Given the description of an element on the screen output the (x, y) to click on. 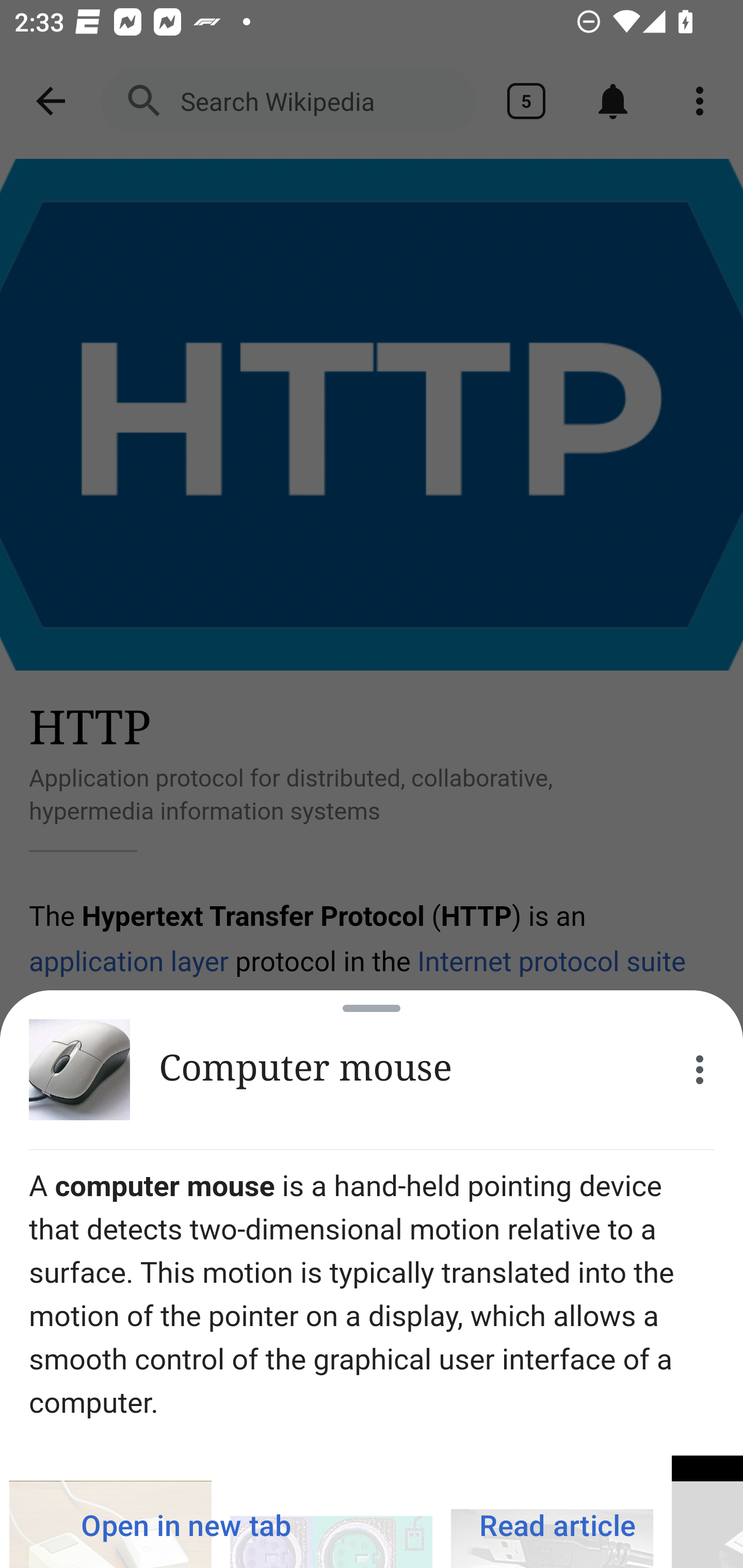
Computer mouse More options (371, 1069)
More options (699, 1070)
Open in new tab (185, 1524)
Read article (557, 1524)
